Given the description of an element on the screen output the (x, y) to click on. 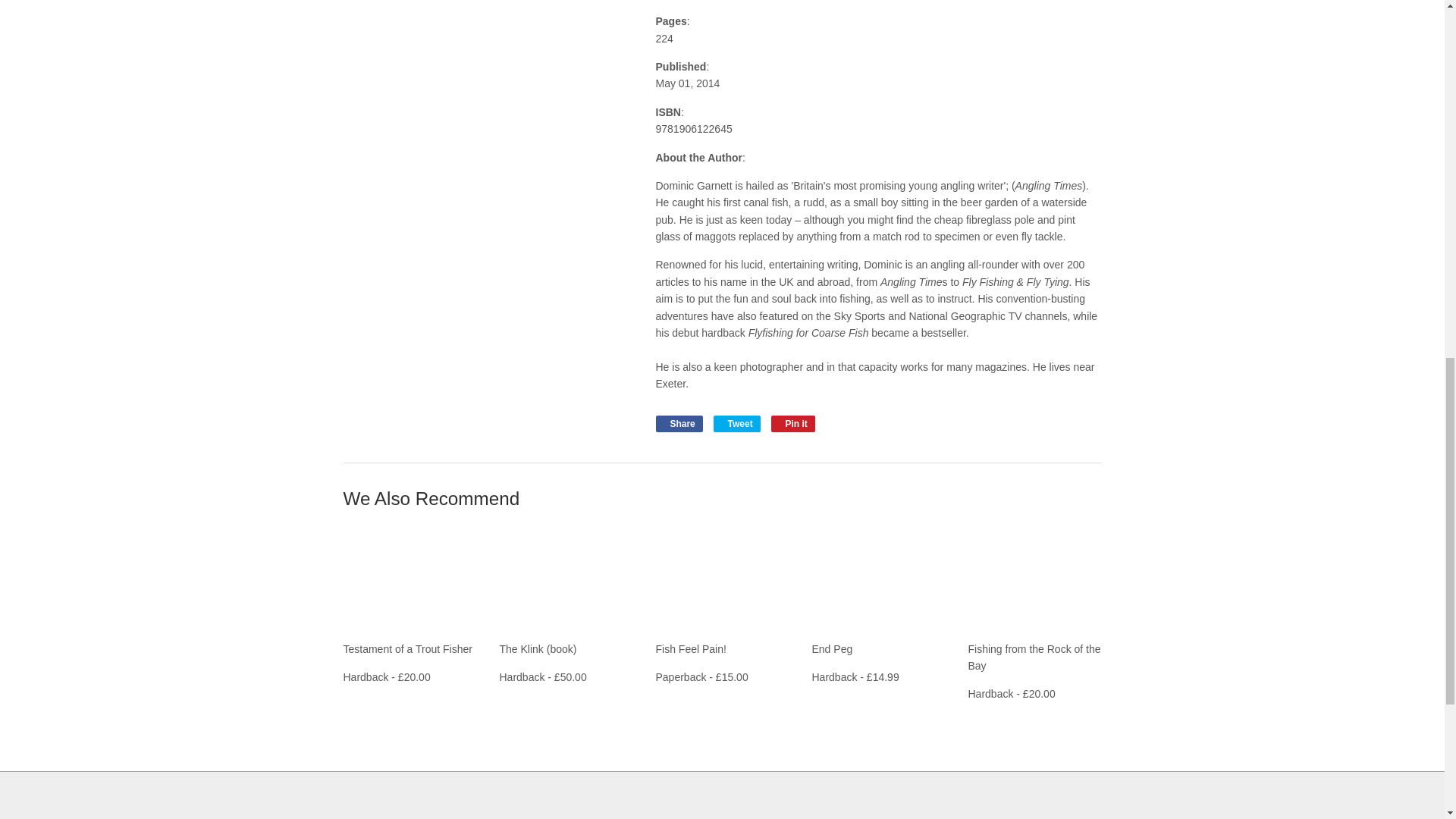
Tweet on Twitter (736, 423)
Pin on Pinterest (793, 423)
Share on Facebook (678, 423)
